Given the description of an element on the screen output the (x, y) to click on. 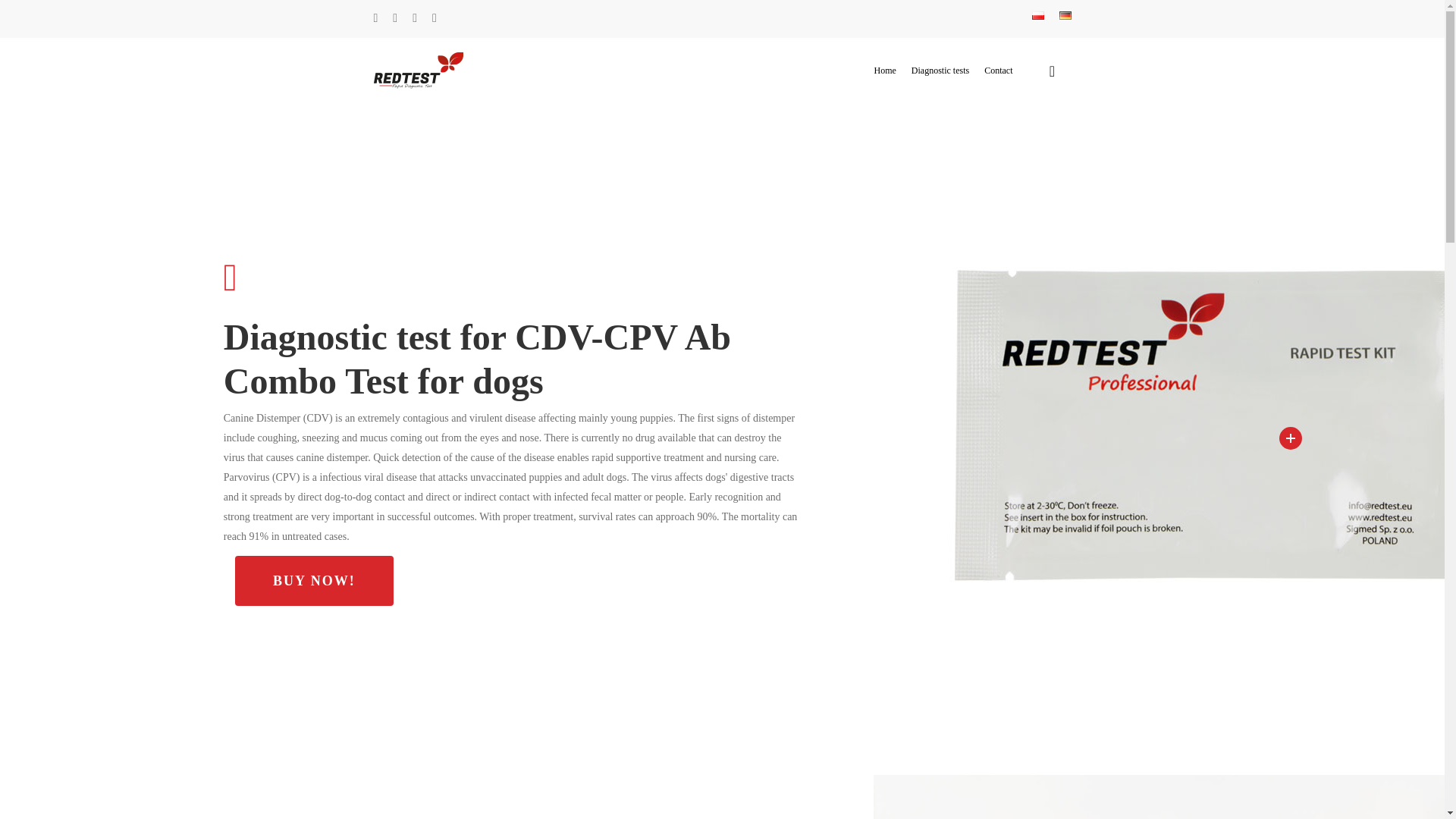
BUY NOW! (313, 581)
Home (885, 70)
Diagnostic tests (940, 70)
Contact (997, 70)
